Given the description of an element on the screen output the (x, y) to click on. 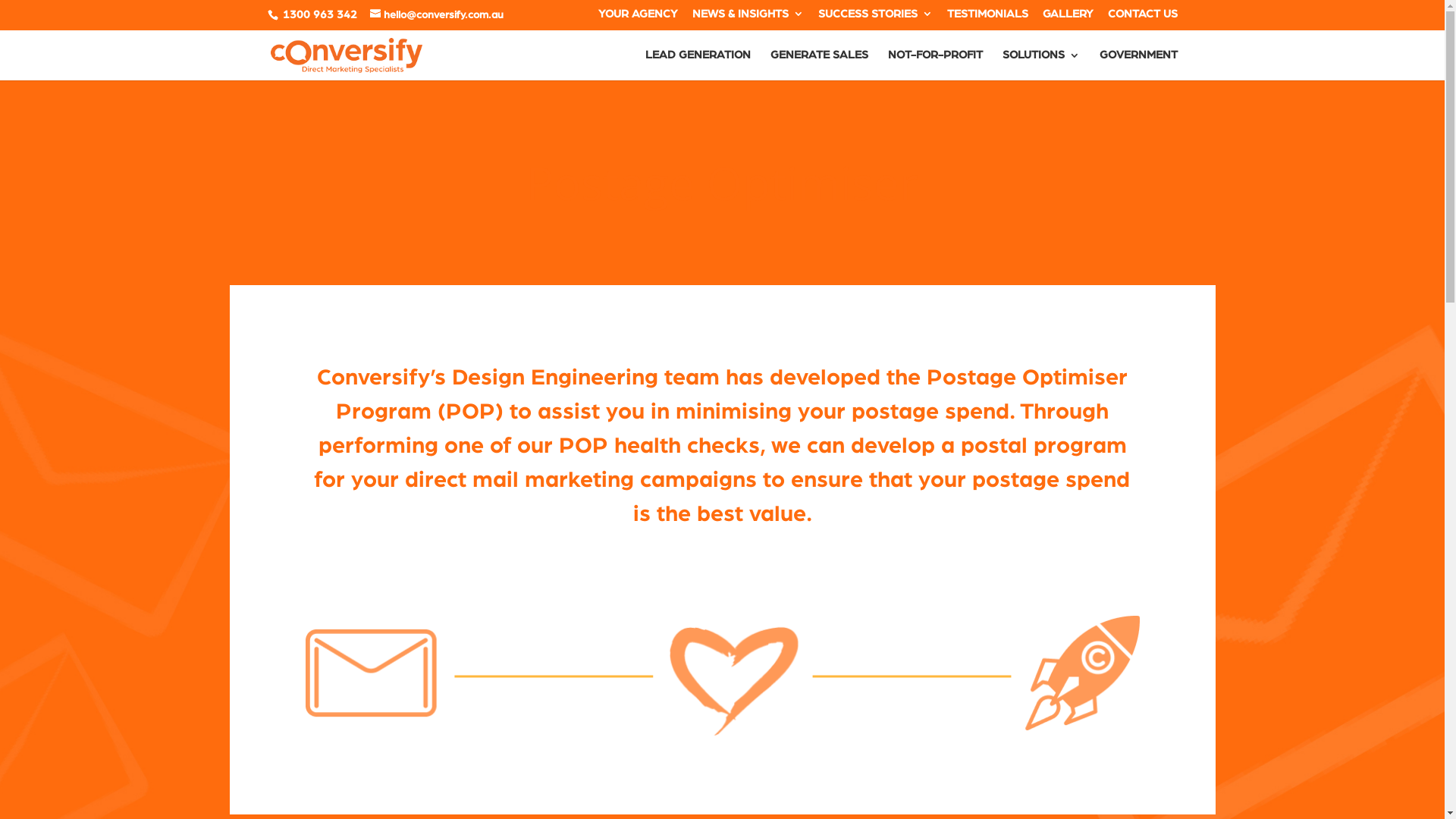
NEWS & INSIGHTS Element type: text (747, 18)
YOUR AGENCY Element type: text (637, 18)
LEAD GENERATION Element type: text (696, 65)
GALLERY Element type: text (1066, 18)
1300 963 342 Element type: text (319, 14)
hello@conversify.com.au Element type: text (436, 14)
SOLUTIONS Element type: text (1040, 65)
SUCCESS STORIES Element type: text (874, 18)
GENERATE SALES Element type: text (819, 65)
postage_optimizer_icon Element type: hover (721, 672)
CONTACT US Element type: text (1141, 18)
GOVERNMENT Element type: text (1138, 65)
TESTIMONIALS Element type: text (986, 18)
NOT-FOR-PROFIT Element type: text (934, 65)
